Given the description of an element on the screen output the (x, y) to click on. 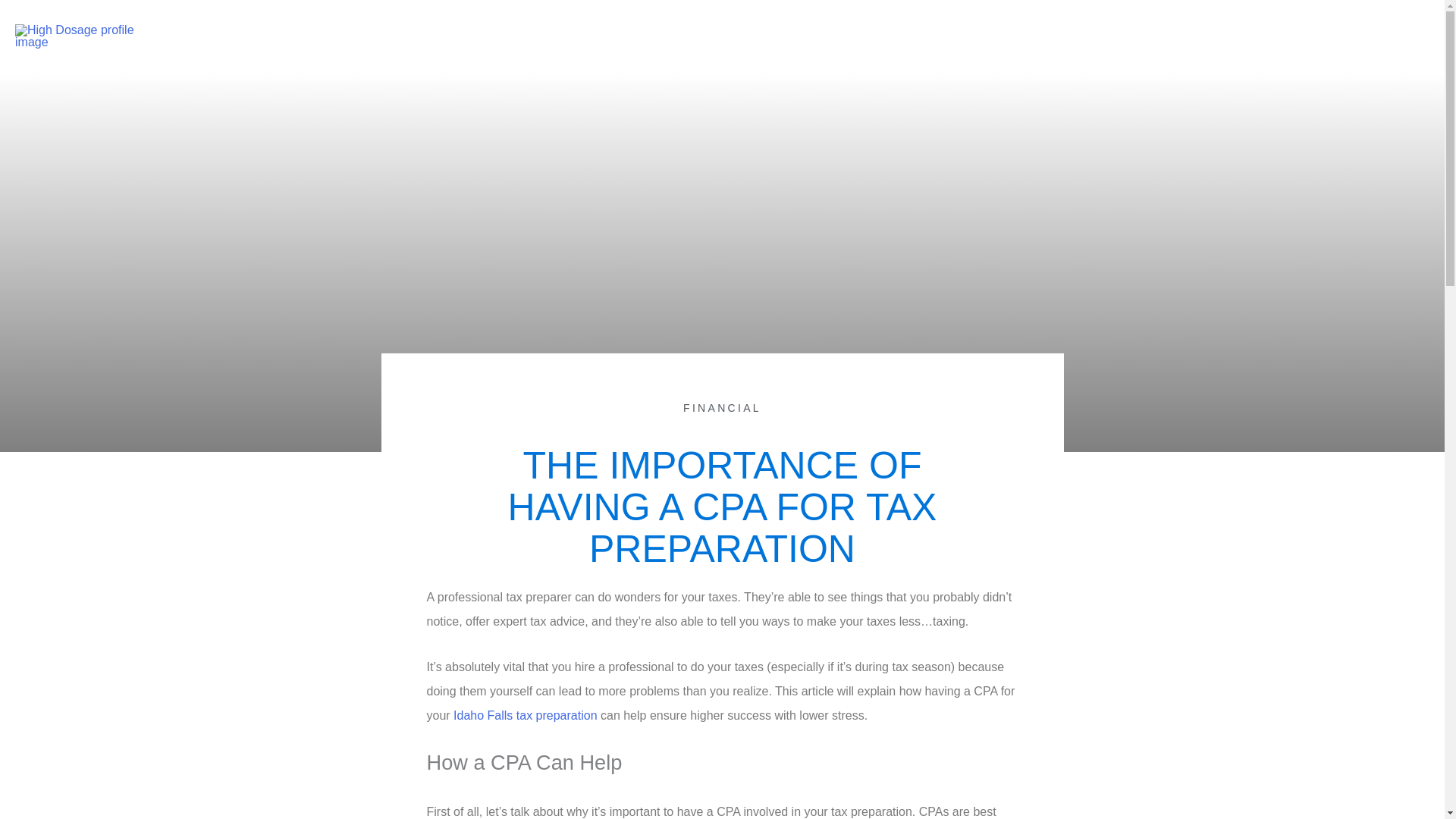
Idaho Falls tax preparation (524, 715)
FINANCIAL (721, 408)
SUBMIT AN ARTICLE (1256, 36)
CATEGORIES (1003, 36)
ABOUT (913, 36)
CONTACT US (1377, 36)
HOME (849, 36)
PRIVACY POLICY (1122, 36)
